Given the description of an element on the screen output the (x, y) to click on. 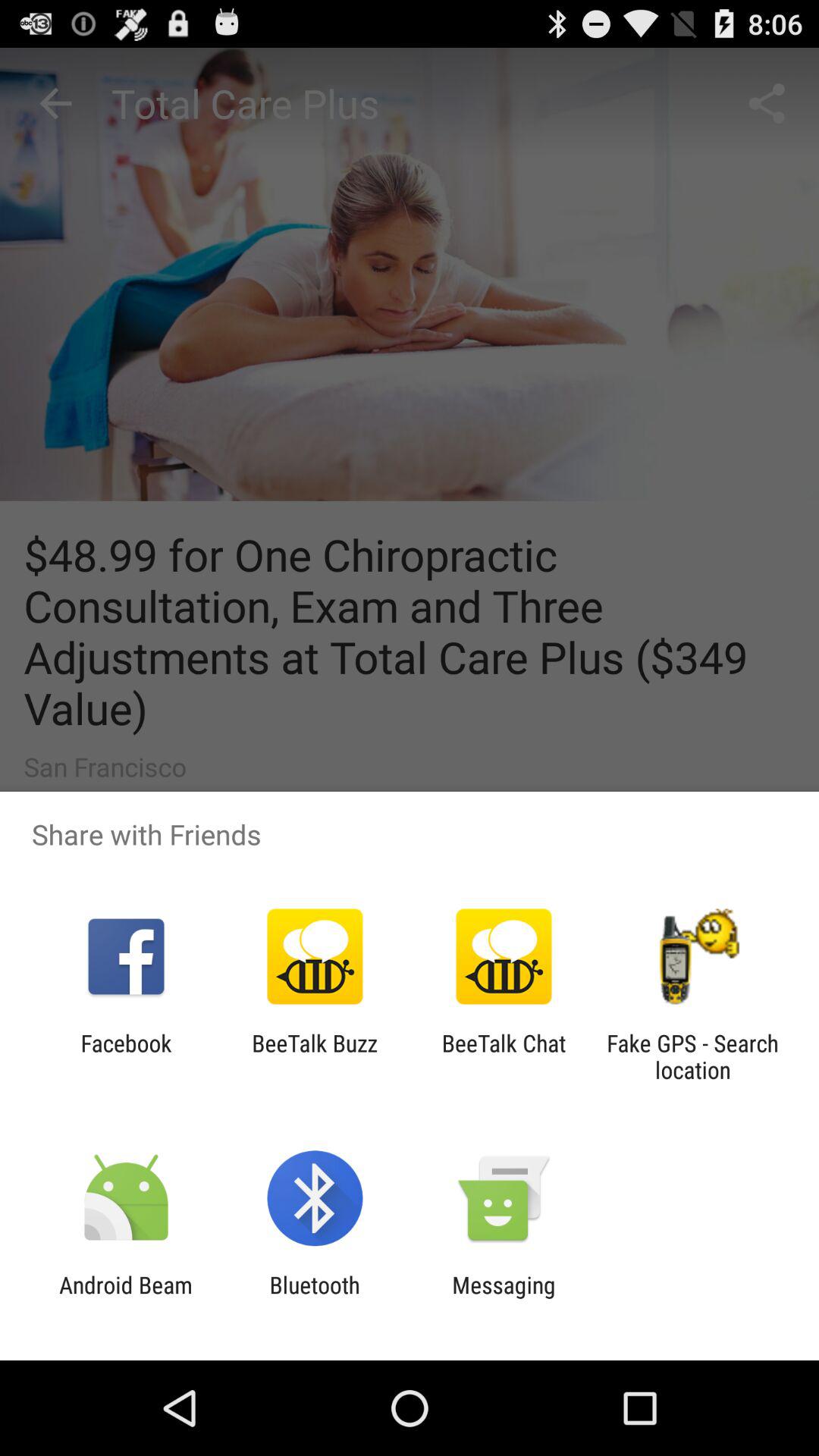
flip to the android beam (125, 1298)
